Given the description of an element on the screen output the (x, y) to click on. 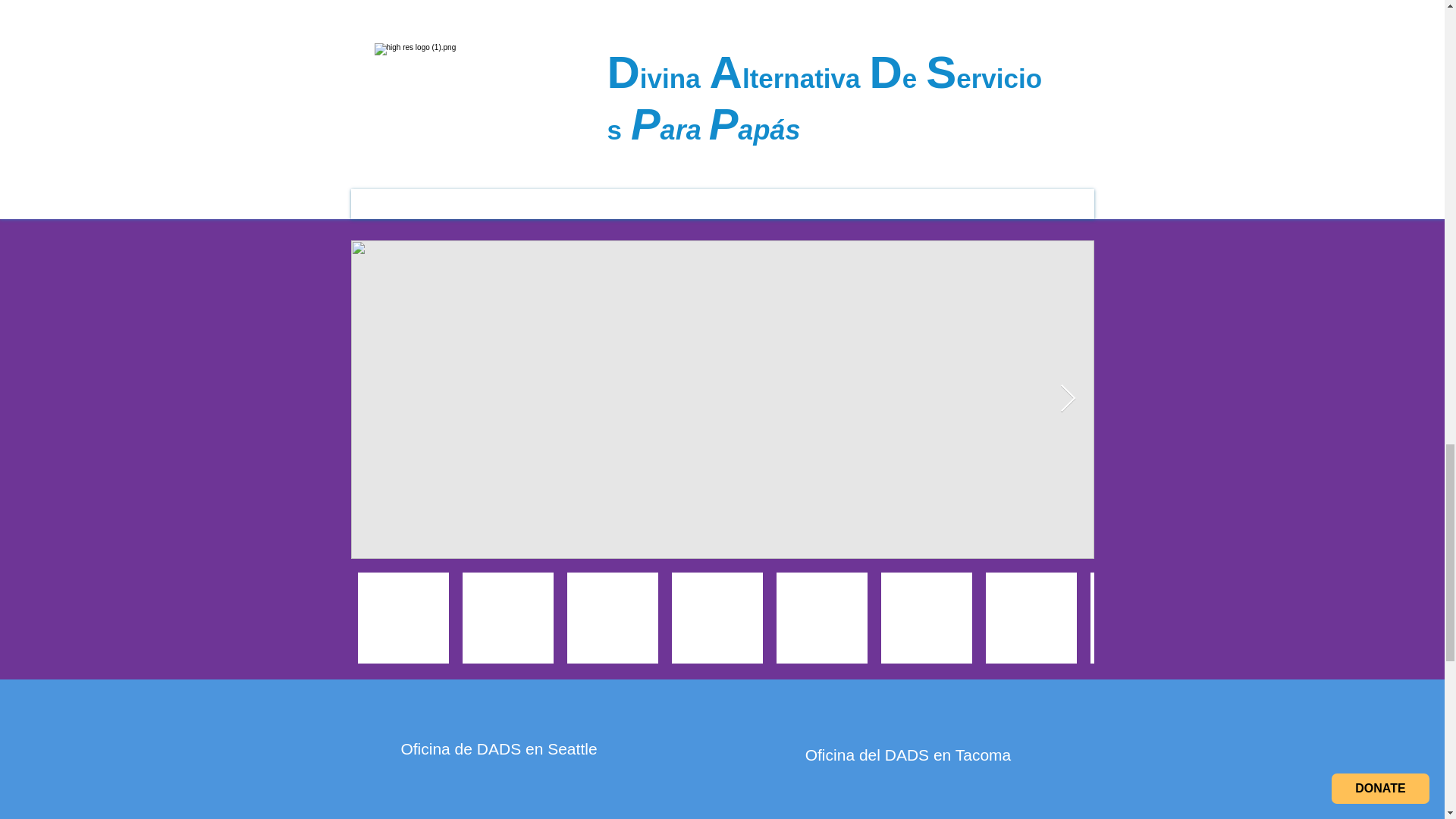
Grey Holographic Registration Your Story .png (140, 22)
Grey Holographic Registration Your Story .png (105, 75)
Grey Holographic Registration Your Story .png (1214, 75)
Grey Holographic Registration Your Story .png (1262, 22)
